Given the description of an element on the screen output the (x, y) to click on. 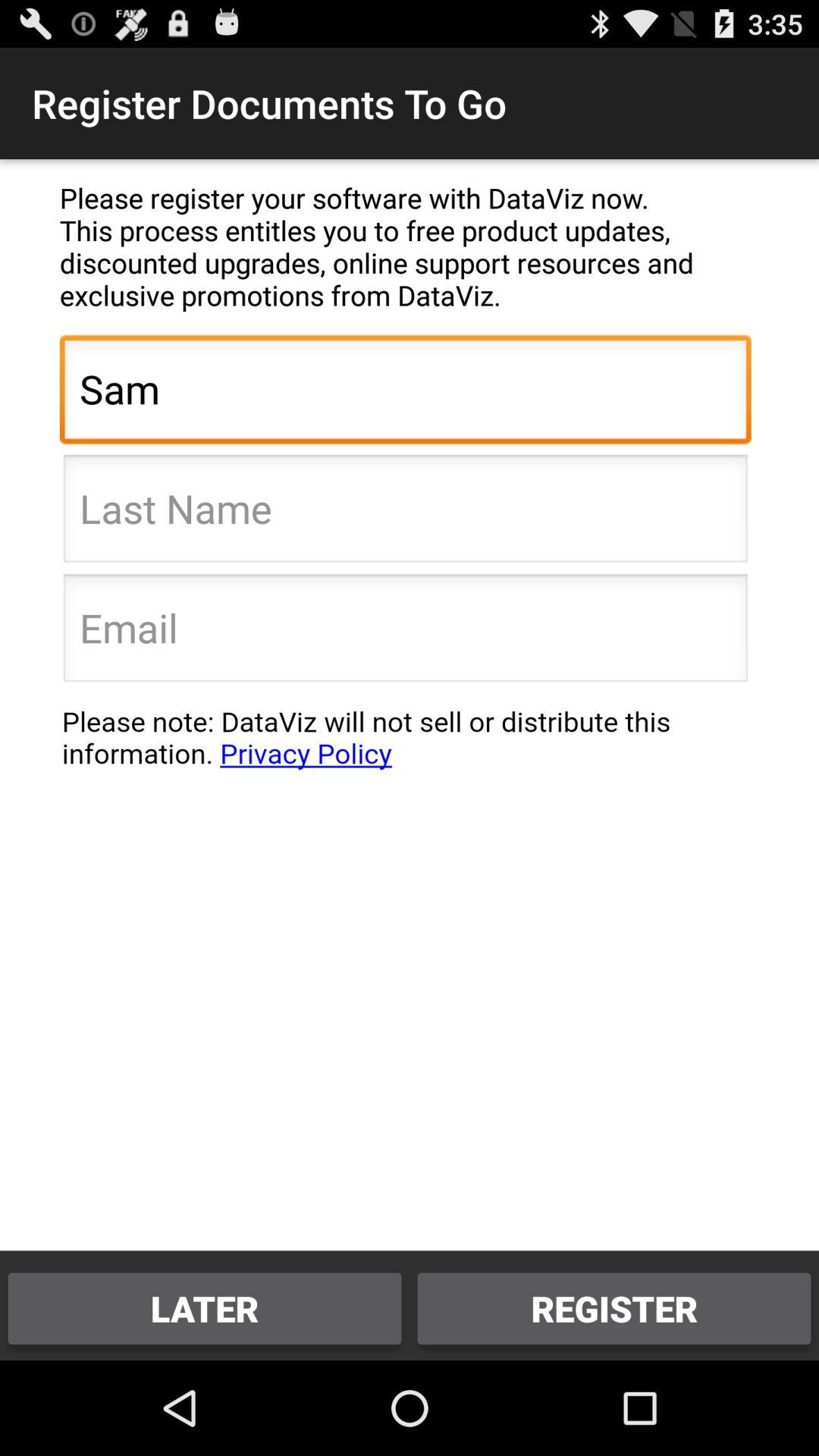
name (405, 512)
